Given the description of an element on the screen output the (x, y) to click on. 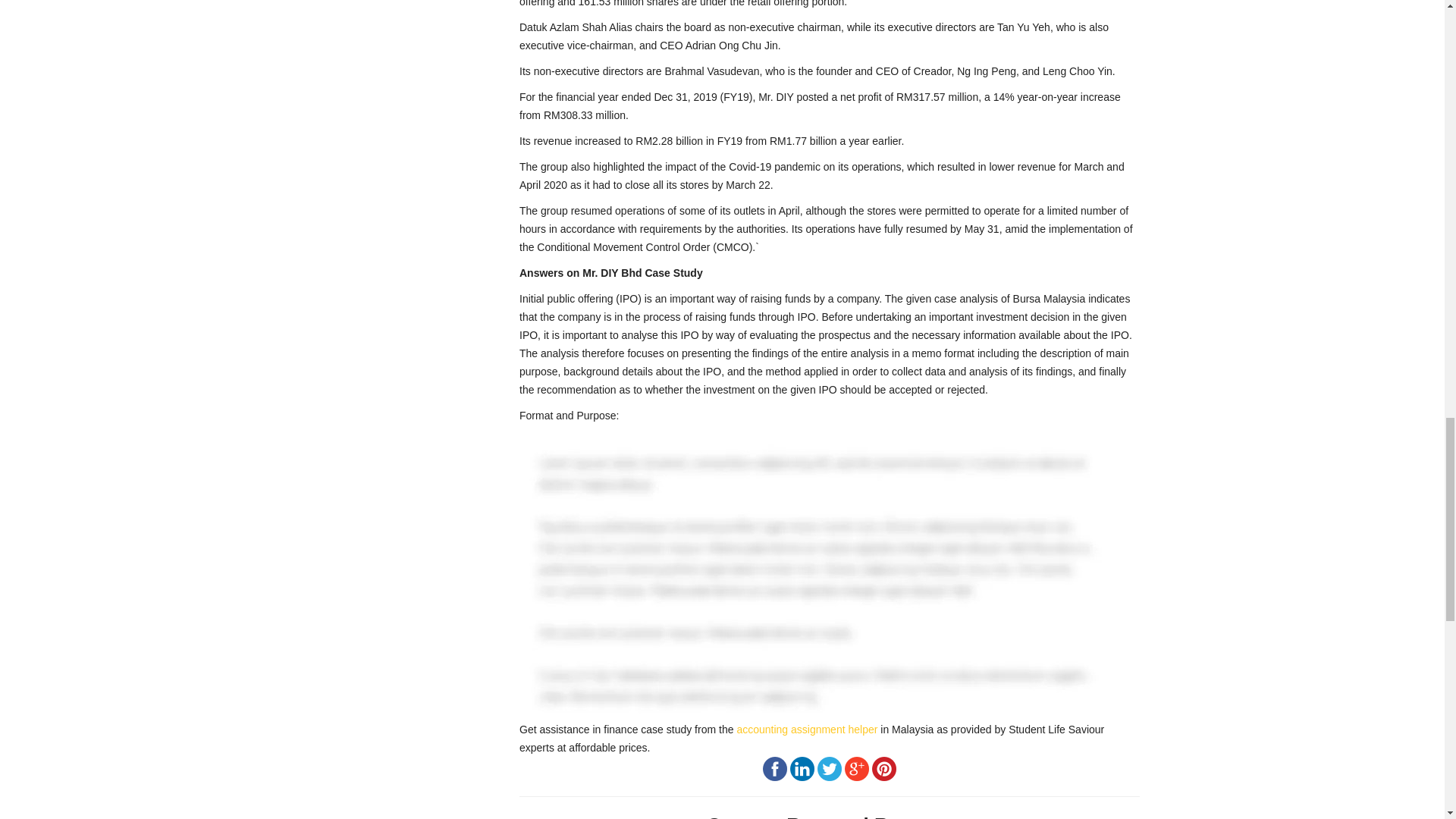
accounting assignment helper (806, 729)
